Given the description of an element on the screen output the (x, y) to click on. 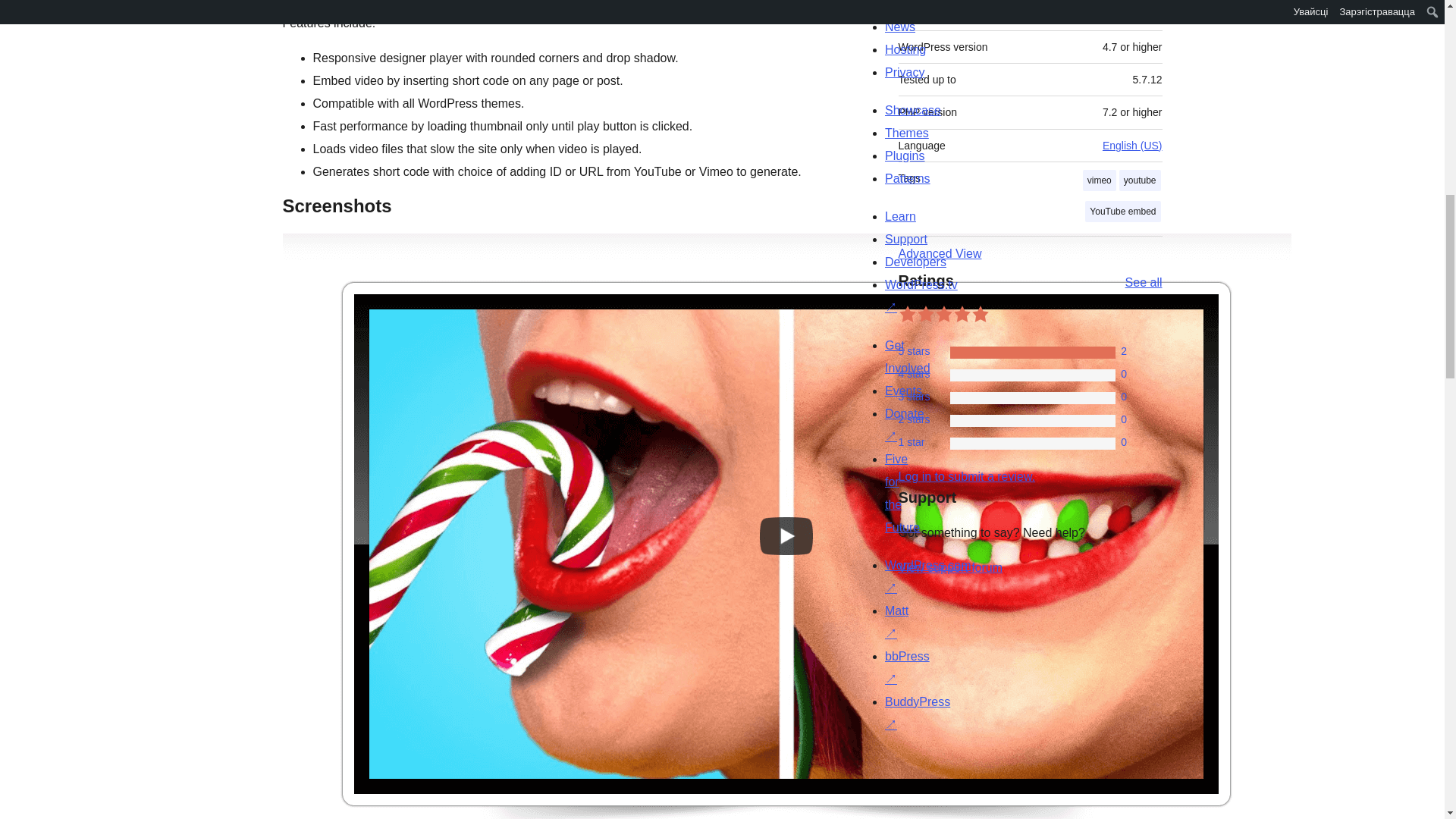
Log in to WordPress.org (966, 476)
WordPress.org (1014, 755)
WordPress.org (864, 755)
